Given the description of an element on the screen output the (x, y) to click on. 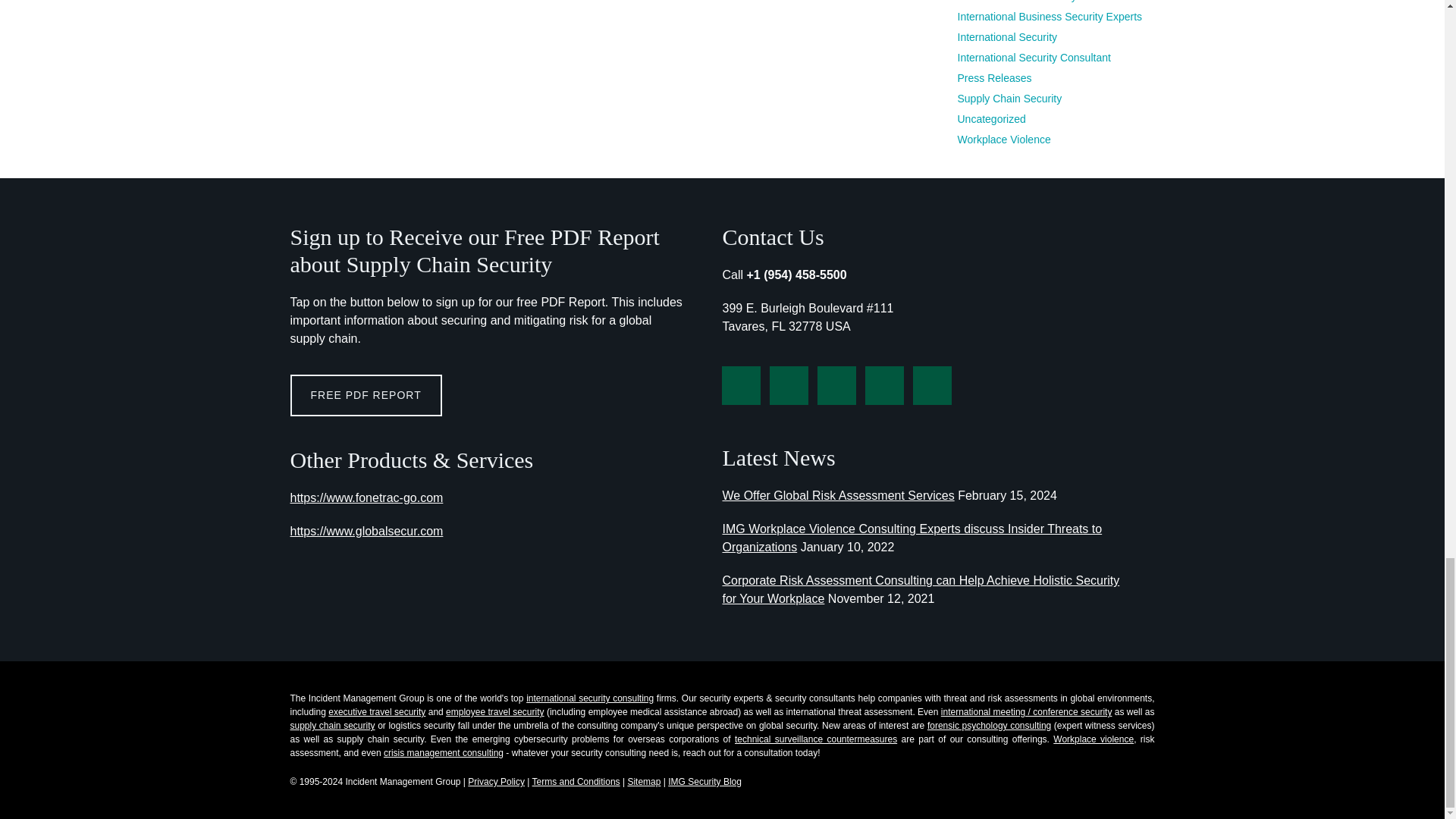
IMG GlobalSecur Travel Security Services (365, 530)
FoneTrac for Individuals (365, 497)
International Security Consulting (589, 697)
Executive Travel Security (377, 711)
Employee Travel Security (494, 711)
Call 954-458-5500 (803, 274)
